Given the description of an element on the screen output the (x, y) to click on. 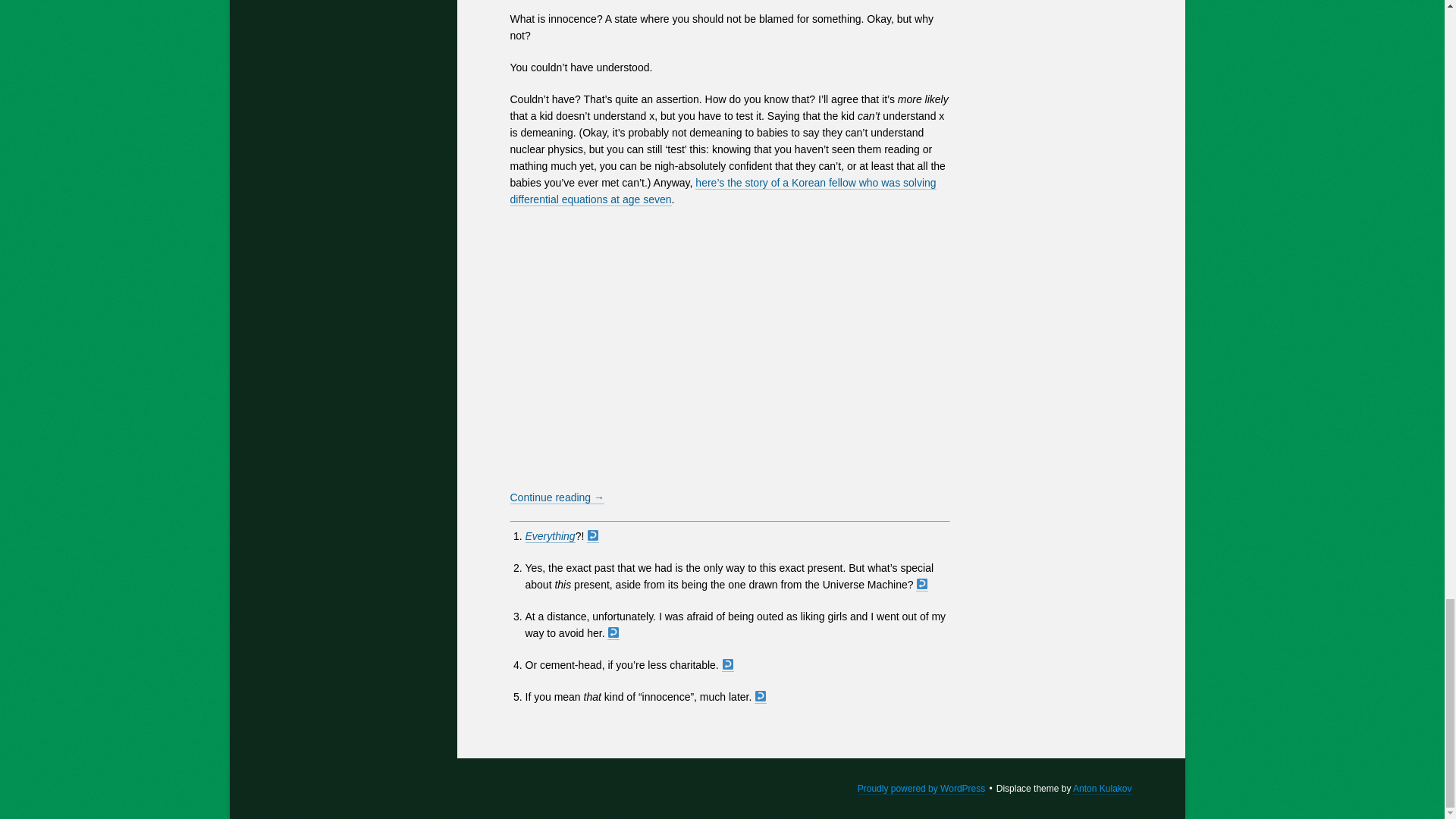
Everything (549, 535)
